Given the description of an element on the screen output the (x, y) to click on. 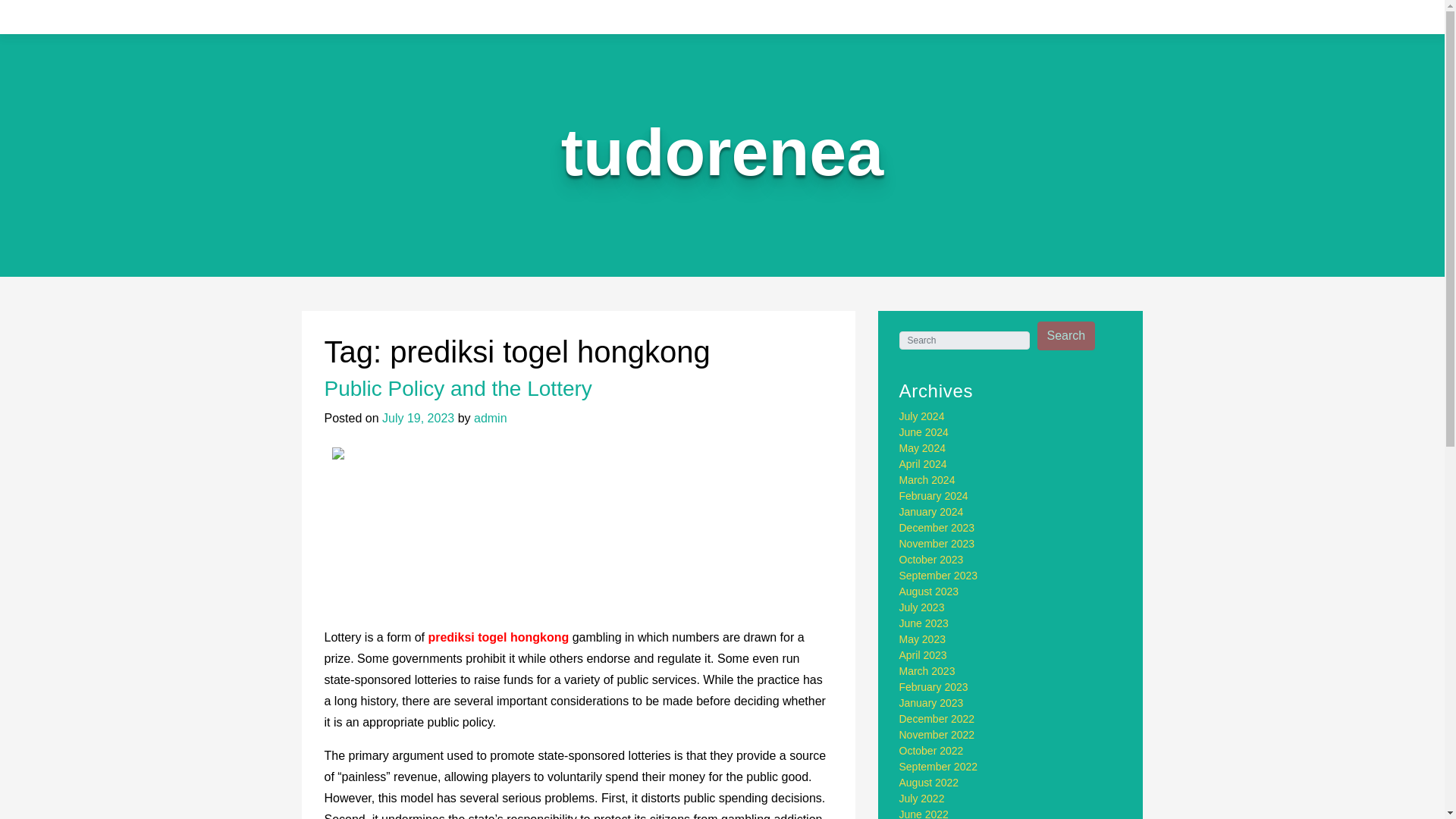
May 2024 (921, 448)
July 2024 (921, 416)
November 2023 (937, 543)
January 2023 (931, 702)
June 2023 (924, 623)
admin (490, 418)
September 2023 (938, 575)
Public Policy and the Lottery (458, 388)
July 19, 2023 (417, 418)
prediksi togel hongkong (498, 636)
February 2023 (933, 686)
December 2022 (937, 718)
March 2023 (927, 671)
December 2023 (937, 527)
July 2023 (921, 607)
